Given the description of an element on the screen output the (x, y) to click on. 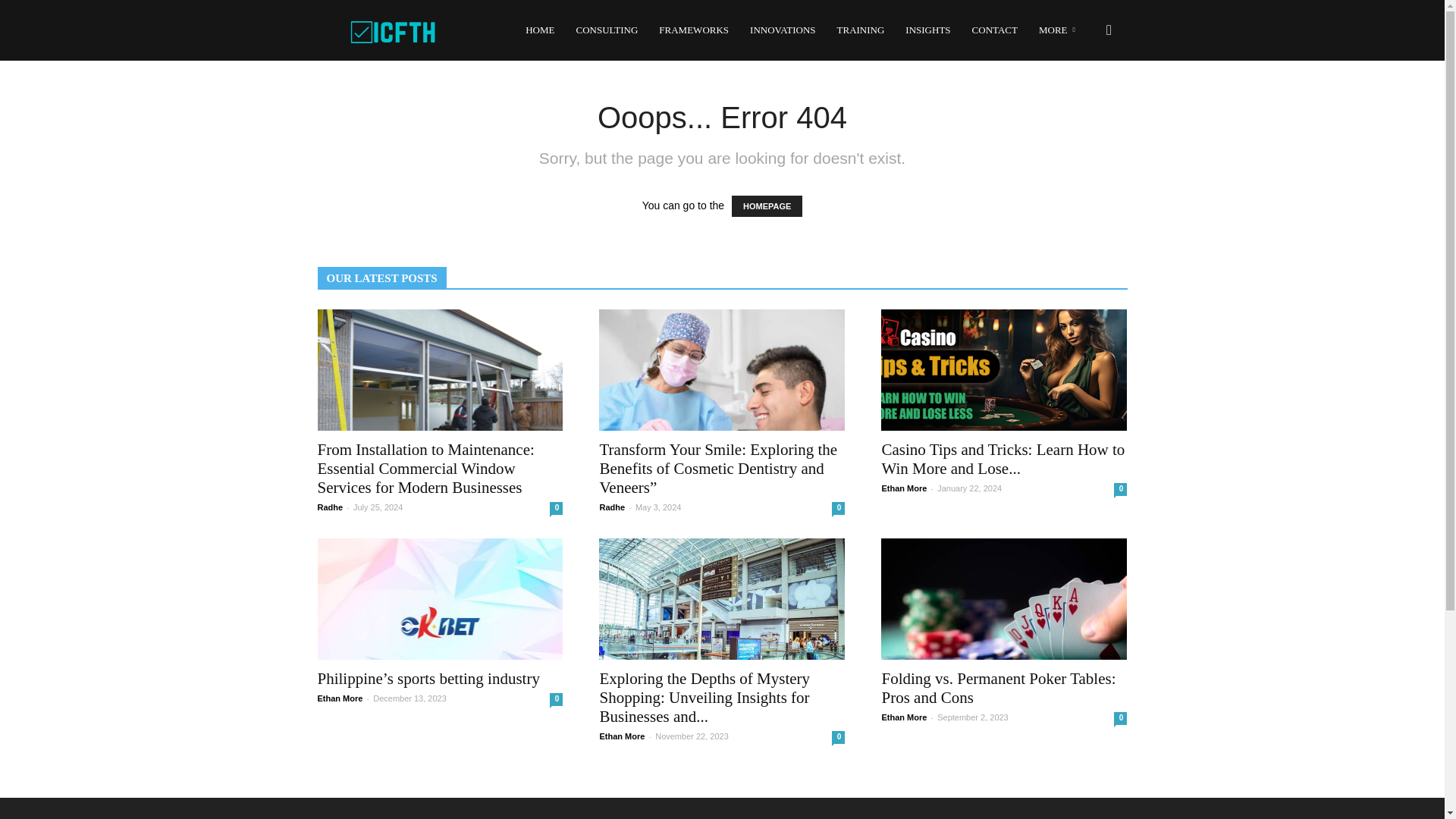
ICFTH (392, 30)
Search (1085, 102)
